Given the description of an element on the screen output the (x, y) to click on. 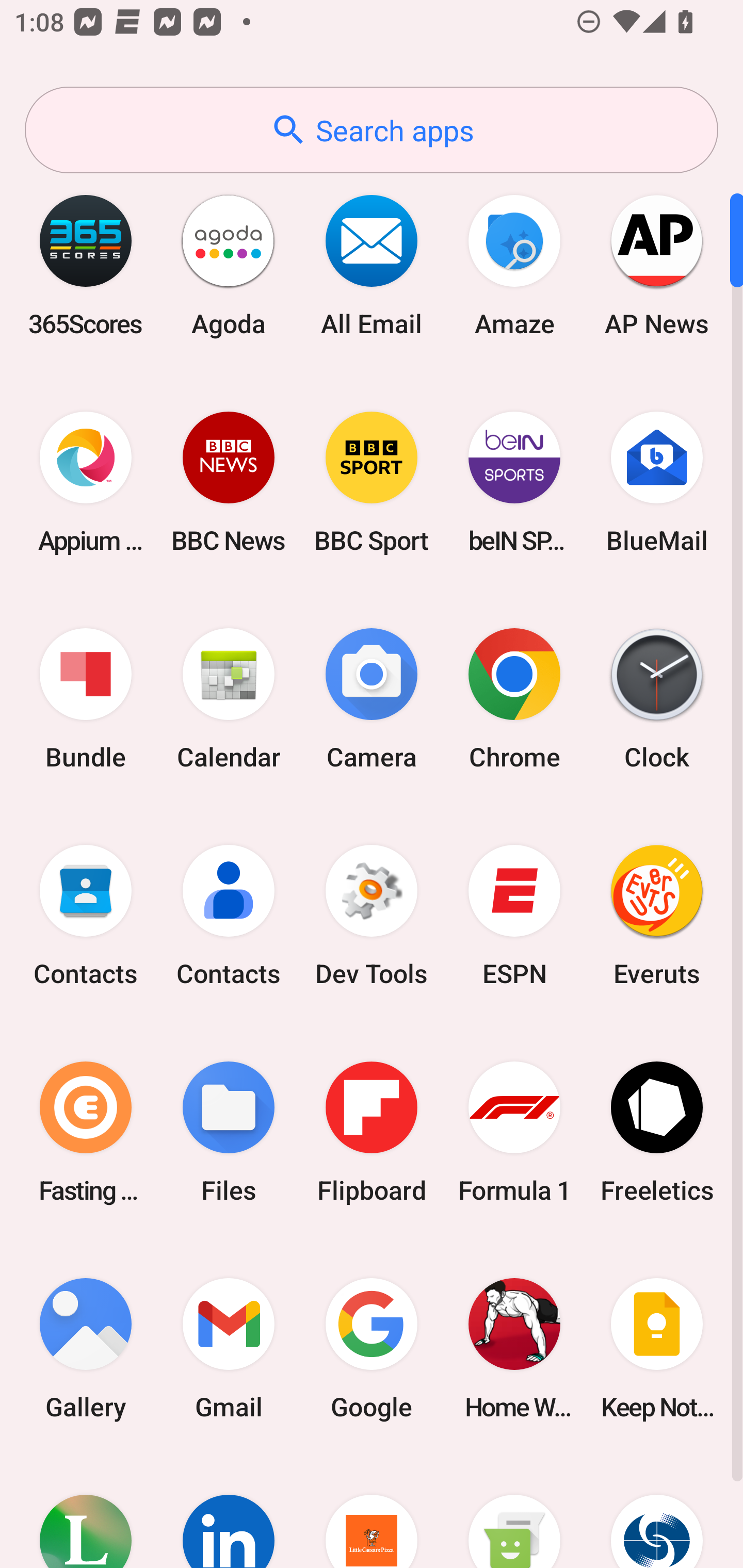
  Search apps (371, 130)
365Scores (85, 264)
Agoda (228, 264)
All Email (371, 264)
Amaze (514, 264)
AP News (656, 264)
Appium Settings (85, 482)
BBC News (228, 482)
BBC Sport (371, 482)
beIN SPORTS (514, 482)
BlueMail (656, 482)
Bundle (85, 699)
Calendar (228, 699)
Camera (371, 699)
Chrome (514, 699)
Clock (656, 699)
Contacts (85, 915)
Contacts (228, 915)
Dev Tools (371, 915)
ESPN (514, 915)
Everuts (656, 915)
Fasting Coach (85, 1131)
Files (228, 1131)
Flipboard (371, 1131)
Formula 1 (514, 1131)
Freeletics (656, 1131)
Gallery (85, 1348)
Gmail (228, 1348)
Google (371, 1348)
Home Workout (514, 1348)
Keep Notes (656, 1348)
